Given the description of an element on the screen output the (x, y) to click on. 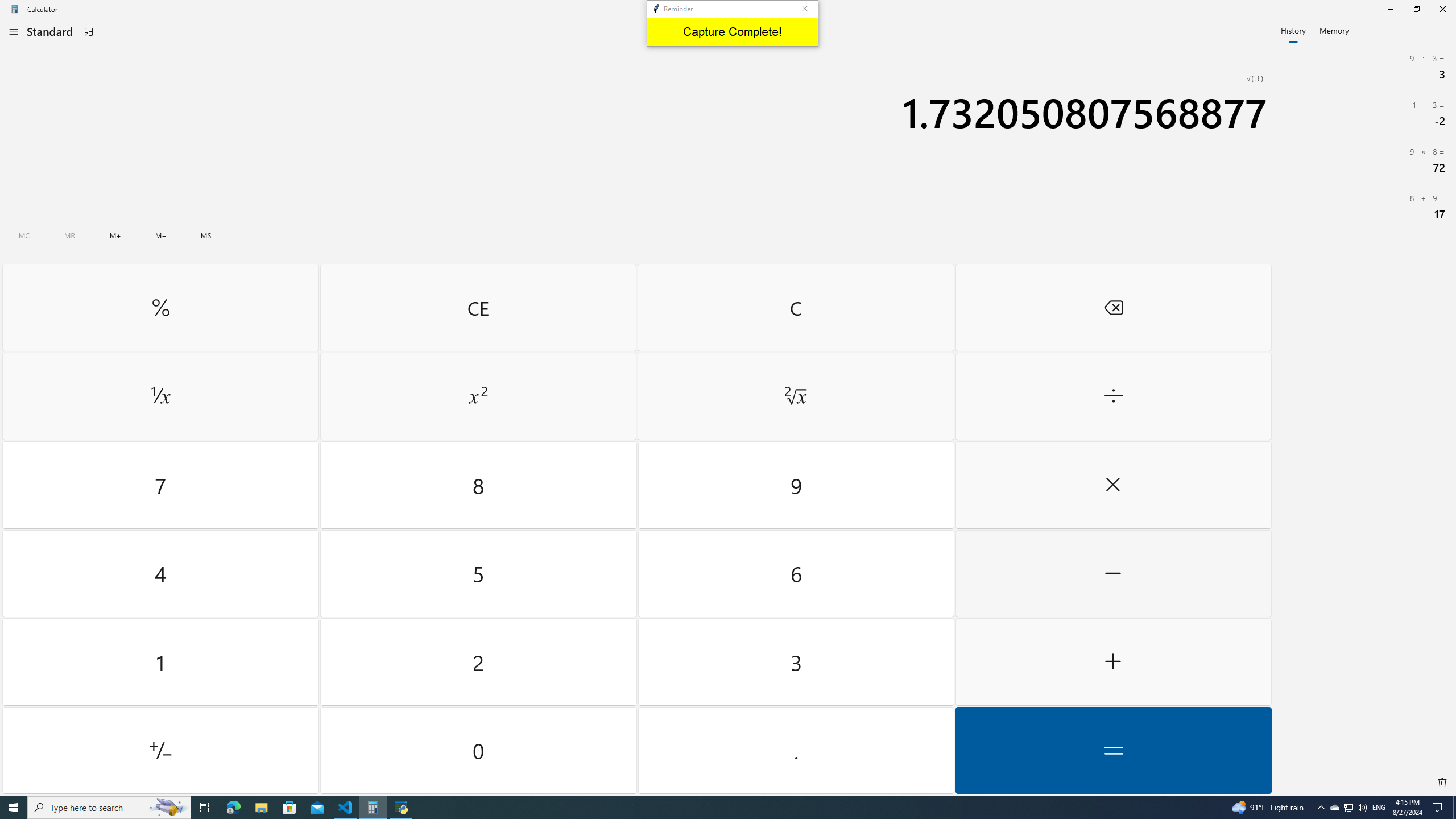
Zero (478, 749)
8 + 9= 17 (1364, 206)
Divide by (1113, 396)
History (1293, 29)
Clear (795, 307)
Calculator - 1 running window (373, 807)
Keep on top (88, 31)
Memory recall (69, 235)
Backspace (1113, 307)
Square (478, 396)
Minimize Calculator (1390, 9)
